Given the description of an element on the screen output the (x, y) to click on. 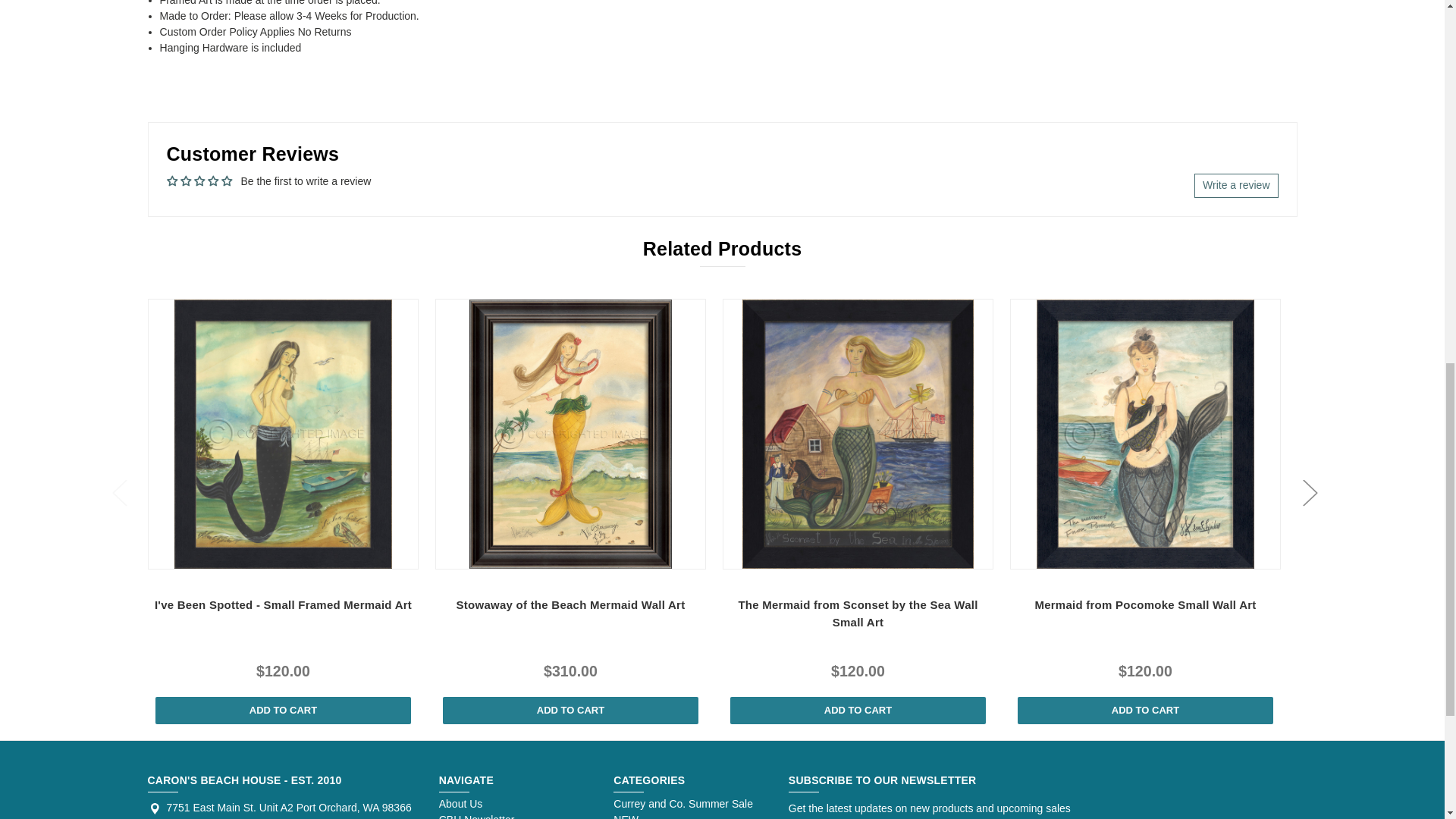
I've Been Spotted - Small Framed Mermaid Art (282, 433)
